Given the description of an element on the screen output the (x, y) to click on. 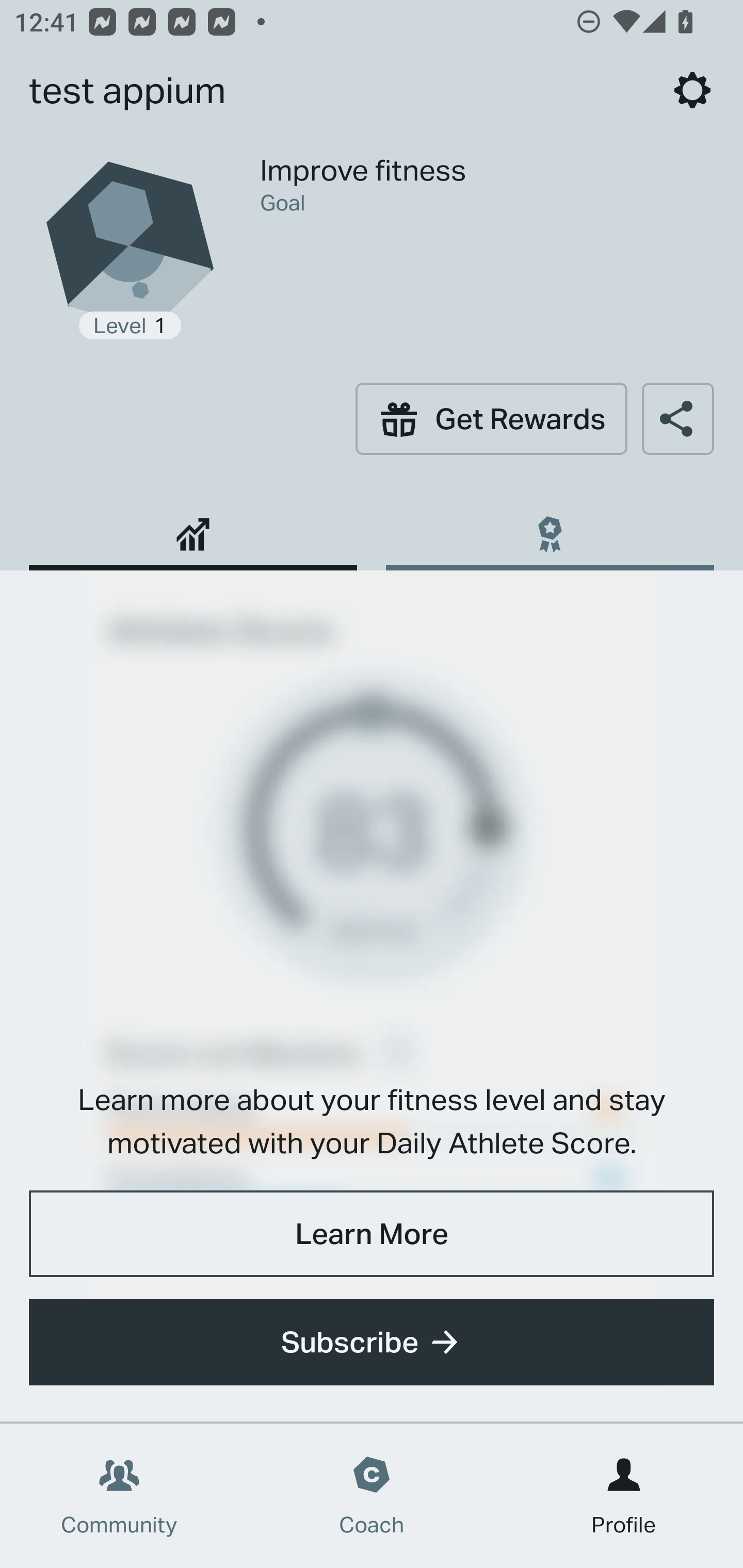
Settings (692, 90)
Get Rewards (491, 418)
Daily Athlete Score (192, 527)
Hall of Fame (549, 527)
Learn More (371, 1233)
Subscribe (371, 1342)
Community (119, 1495)
Coach (371, 1495)
